Given the description of an element on the screen output the (x, y) to click on. 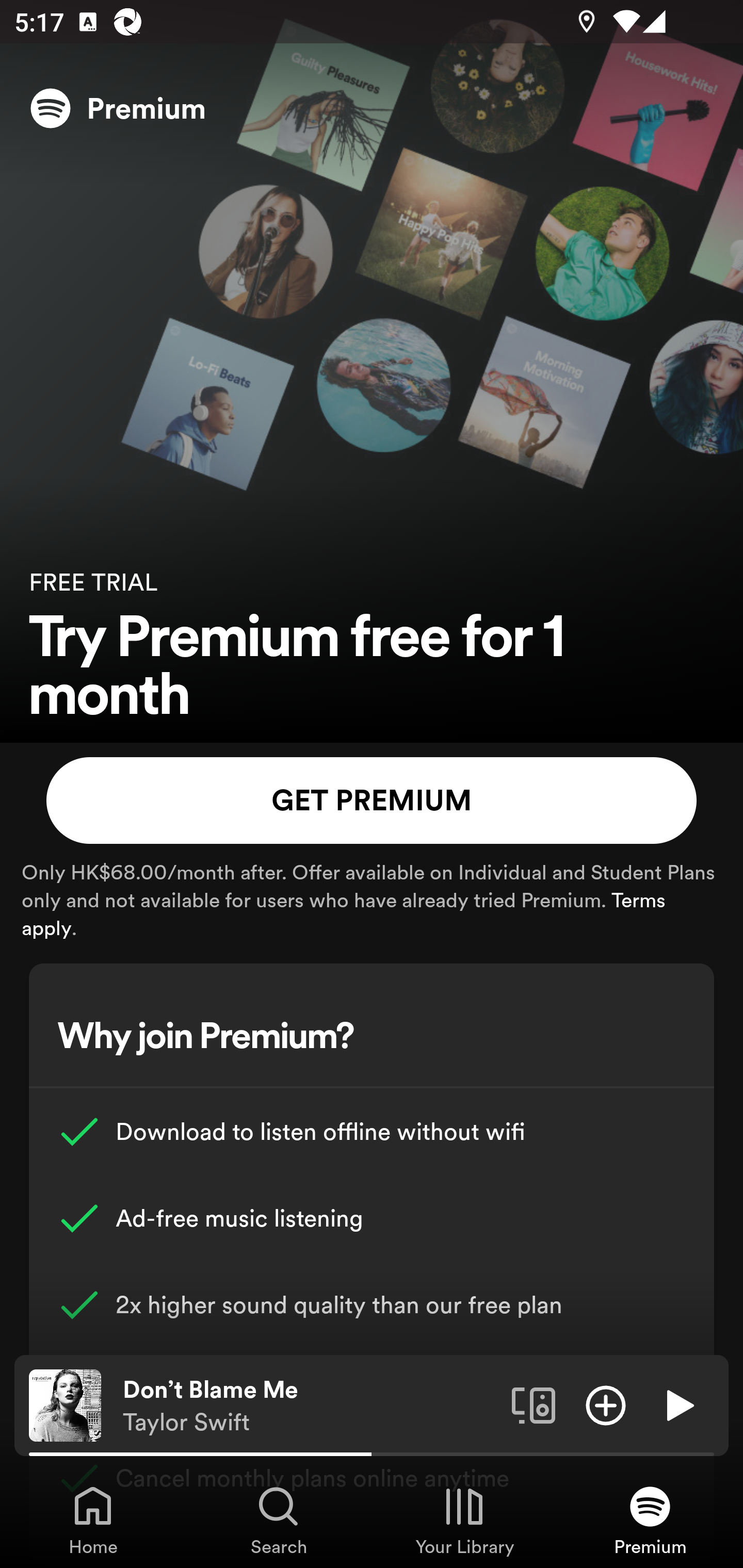
GET PREMIUM (371, 800)
Don’t Blame Me Taylor Swift (309, 1405)
The cover art of the currently playing track (64, 1404)
Connect to a device. Opens the devices menu (533, 1404)
Add item (605, 1404)
Play (677, 1404)
Home, Tab 1 of 4 Home Home (92, 1519)
Search, Tab 2 of 4 Search Search (278, 1519)
Your Library, Tab 3 of 4 Your Library Your Library (464, 1519)
Premium, Tab 4 of 4 Premium Premium (650, 1519)
